Given the description of an element on the screen output the (x, y) to click on. 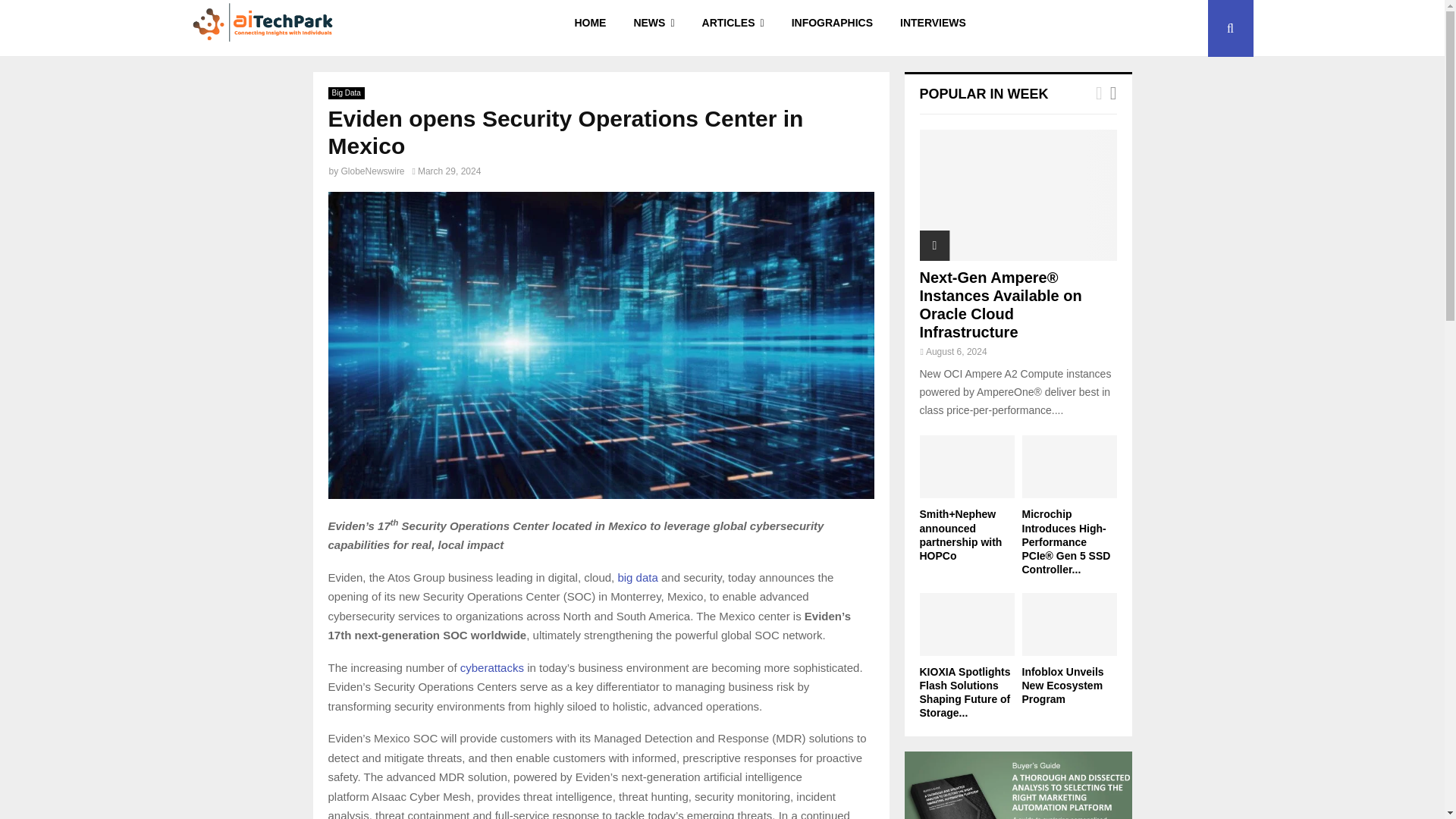
 Infoblox Unveils New Ecosystem Program  (1062, 685)
Infoblox Unveils New Ecosystem Program (1069, 624)
NEWS (653, 28)
HOME (590, 28)
